Given the description of an element on the screen output the (x, y) to click on. 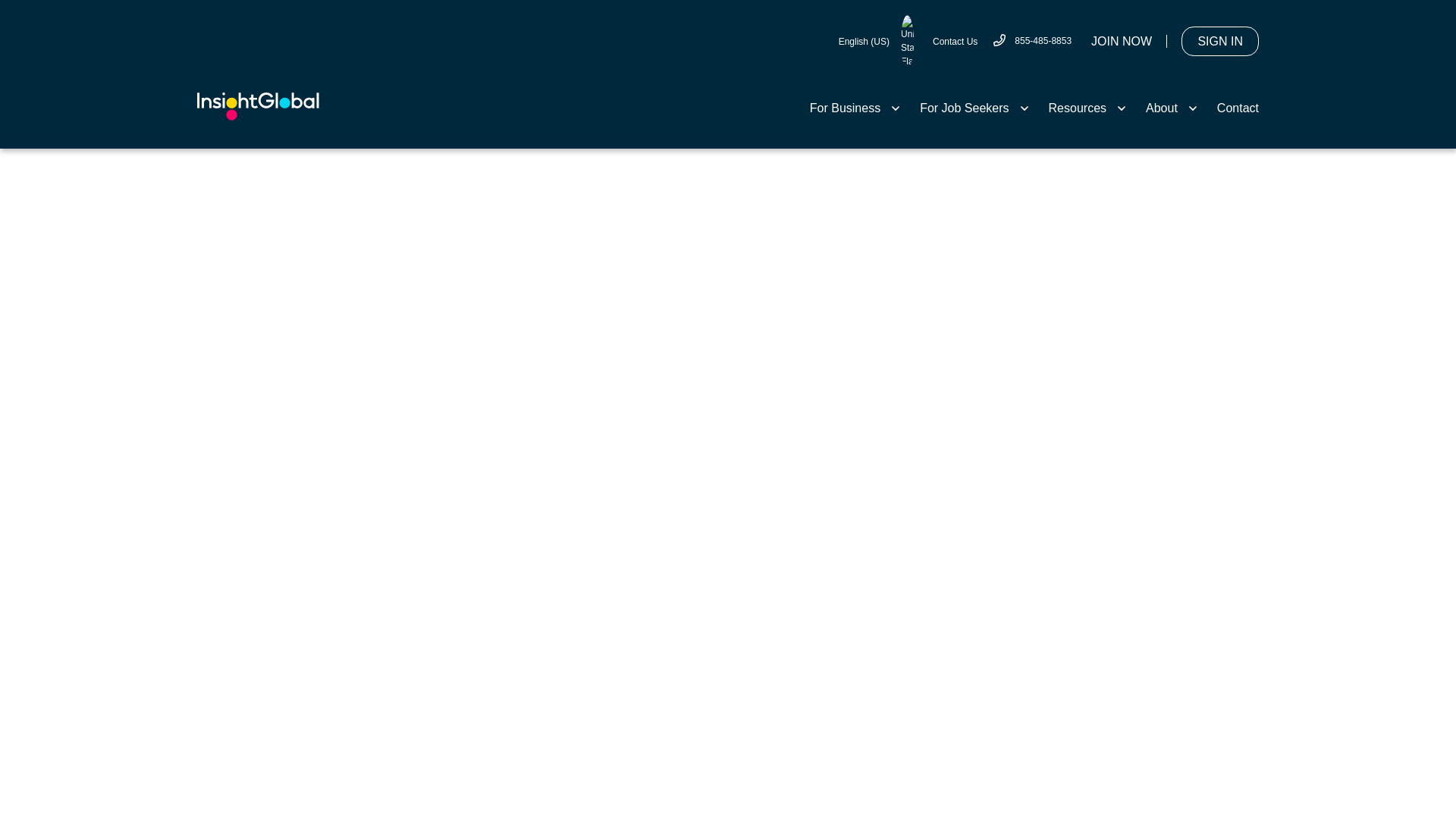
For Business (855, 108)
JOIN NOW (1120, 41)
855-485-8853 (1031, 40)
Sign up as a new user (1120, 41)
Contact Us (954, 41)
SIGN IN (1219, 41)
Log in to your account (1219, 41)
